Given the description of an element on the screen output the (x, y) to click on. 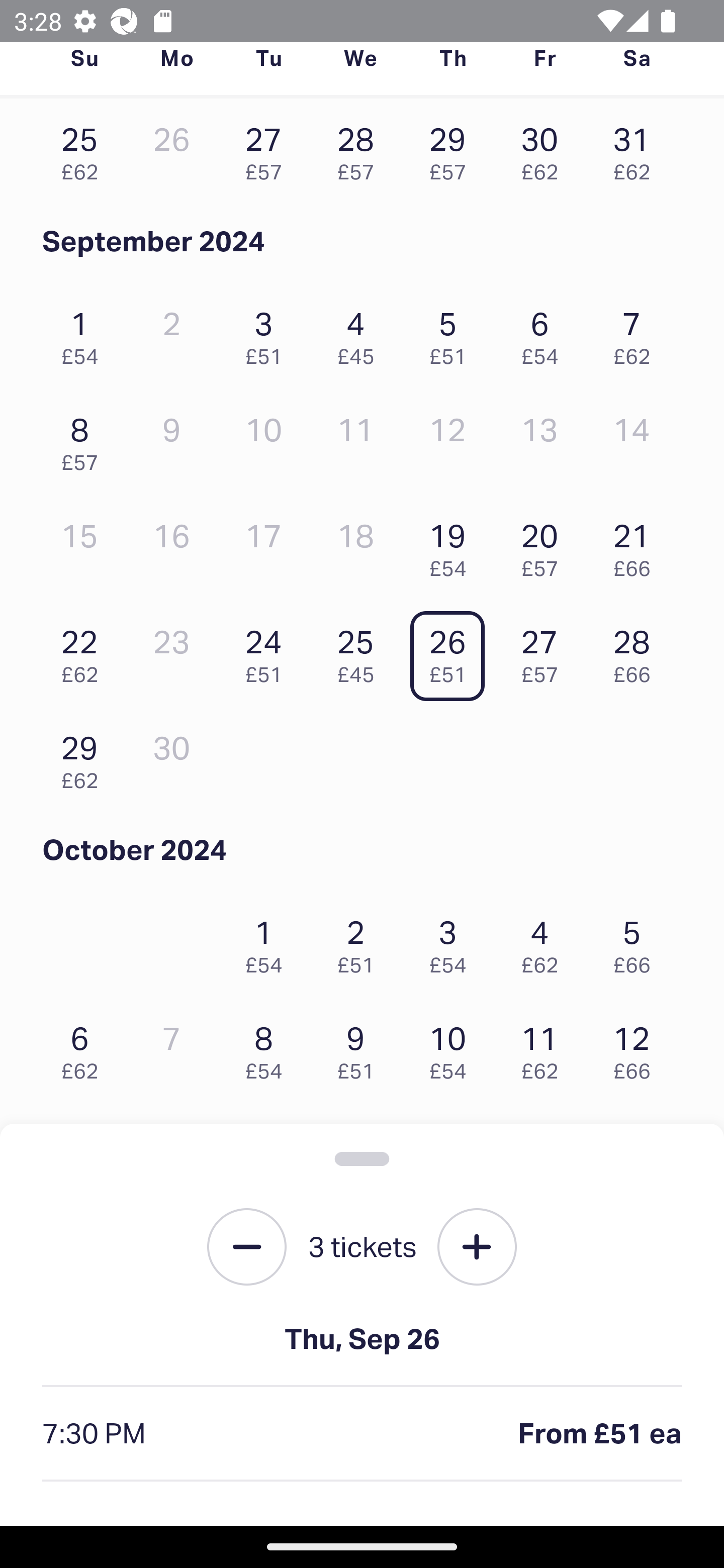
25 £62 (84, 148)
27 £57 (268, 148)
28 £57 (360, 148)
29 £57 (452, 148)
30 £62 (544, 148)
31 £62 (636, 148)
1 £54 (84, 332)
3 £51 (268, 332)
4 £45 (360, 332)
5 £51 (452, 332)
6 £54 (544, 332)
7 £62 (636, 332)
8 £57 (84, 439)
19 £54 (452, 544)
20 £57 (544, 544)
21 £66 (636, 544)
22 £62 (84, 651)
24 £51 (268, 651)
25 £45 (360, 651)
26 £51 (452, 651)
27 £57 (544, 651)
28 £66 (636, 651)
29 £62 (84, 757)
1 £54 (268, 941)
2 £51 (360, 941)
3 £54 (452, 941)
4 £62 (544, 941)
5 £66 (636, 941)
6 £62 (84, 1047)
8 £54 (268, 1047)
9 £51 (360, 1047)
10 £54 (452, 1047)
11 £62 (544, 1047)
12 £66 (636, 1047)
16 £54 (360, 1153)
7:30 PM From £51 ea (361, 1434)
